Given the description of an element on the screen output the (x, y) to click on. 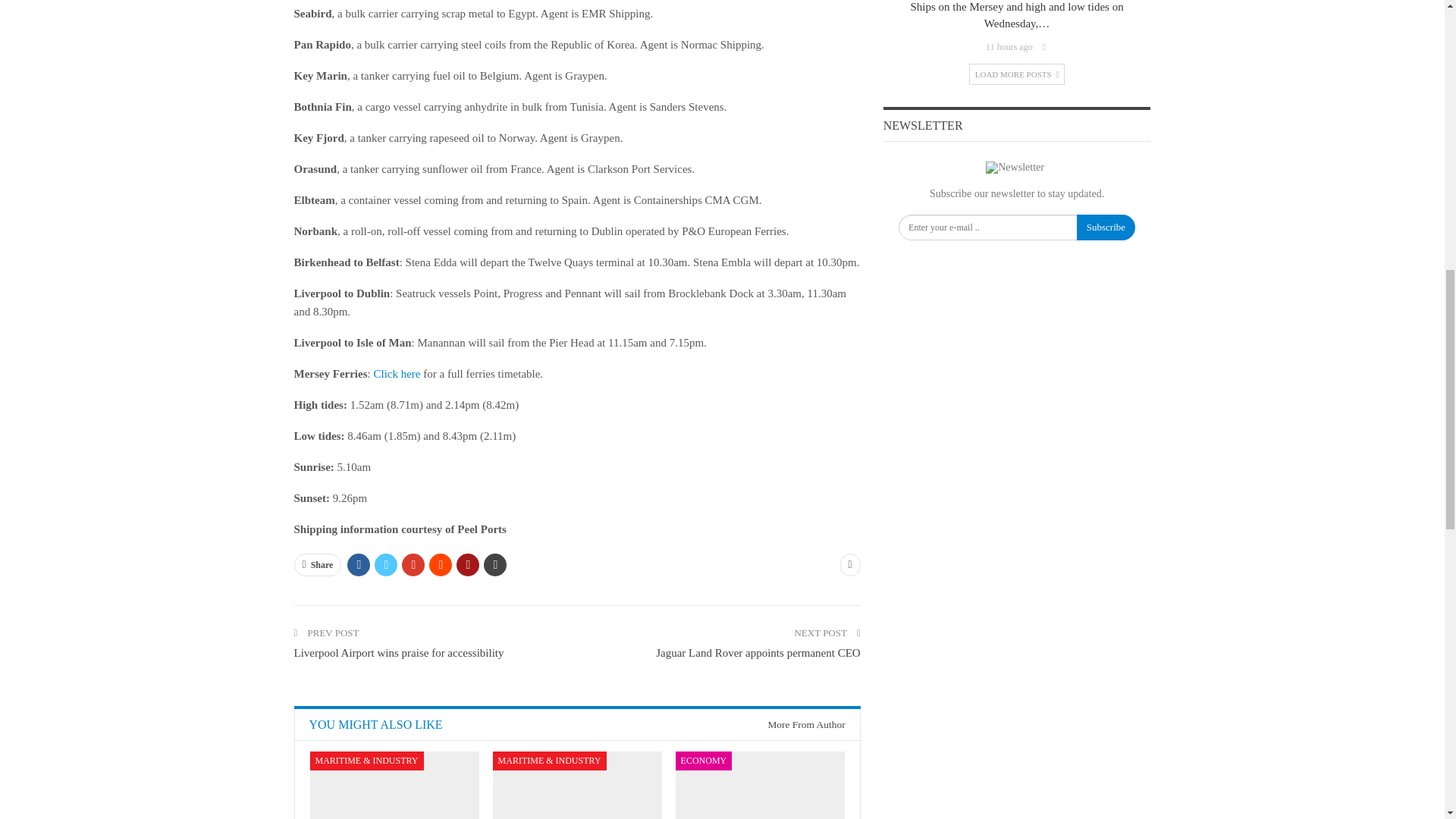
Stanlow hydrogen power plant to switch on in 2027 (759, 785)
